Given the description of an element on the screen output the (x, y) to click on. 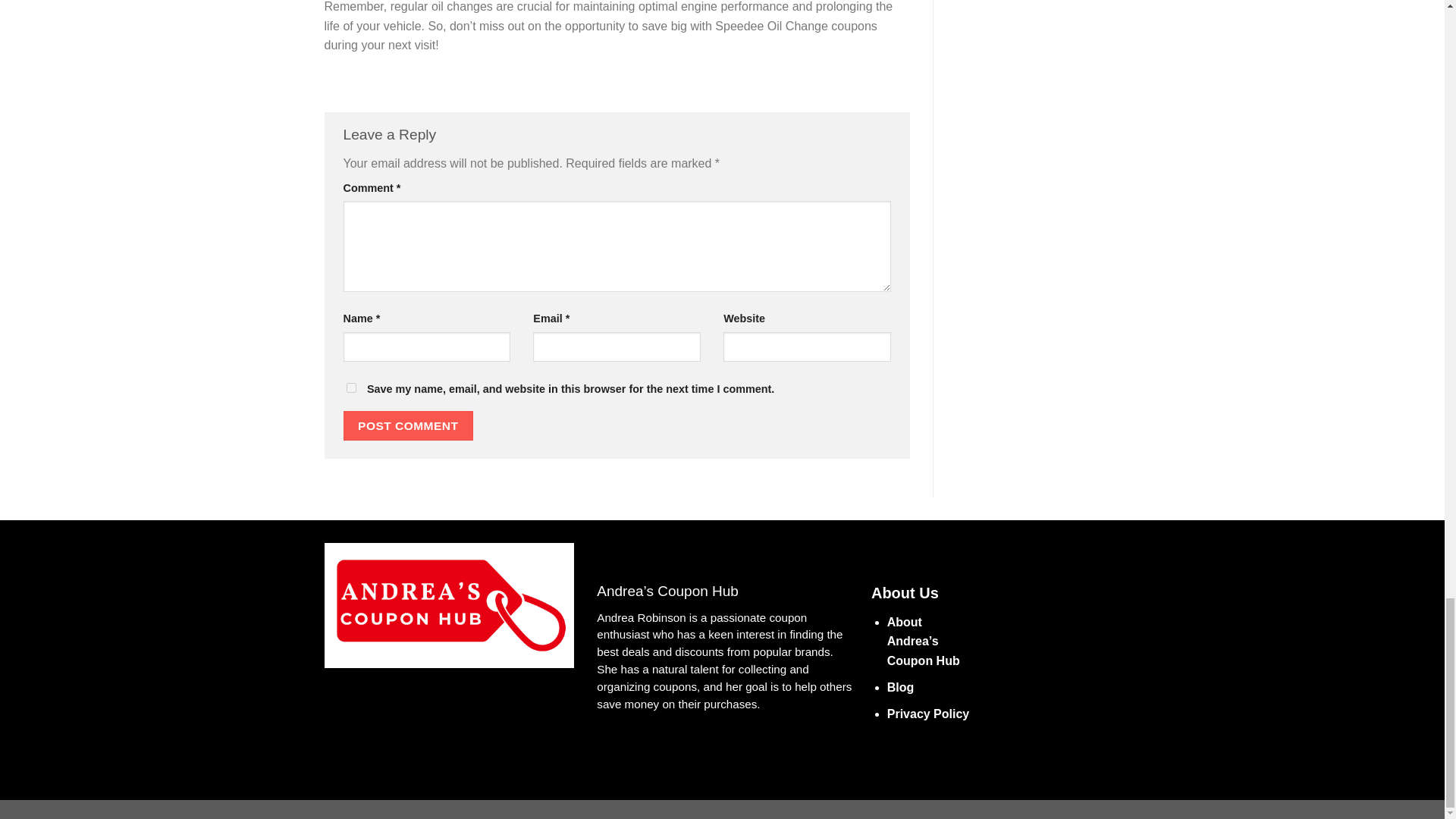
Privacy Policy (927, 713)
Blog (900, 686)
yes (350, 388)
Post Comment (407, 425)
Post Comment (407, 425)
